Given the description of an element on the screen output the (x, y) to click on. 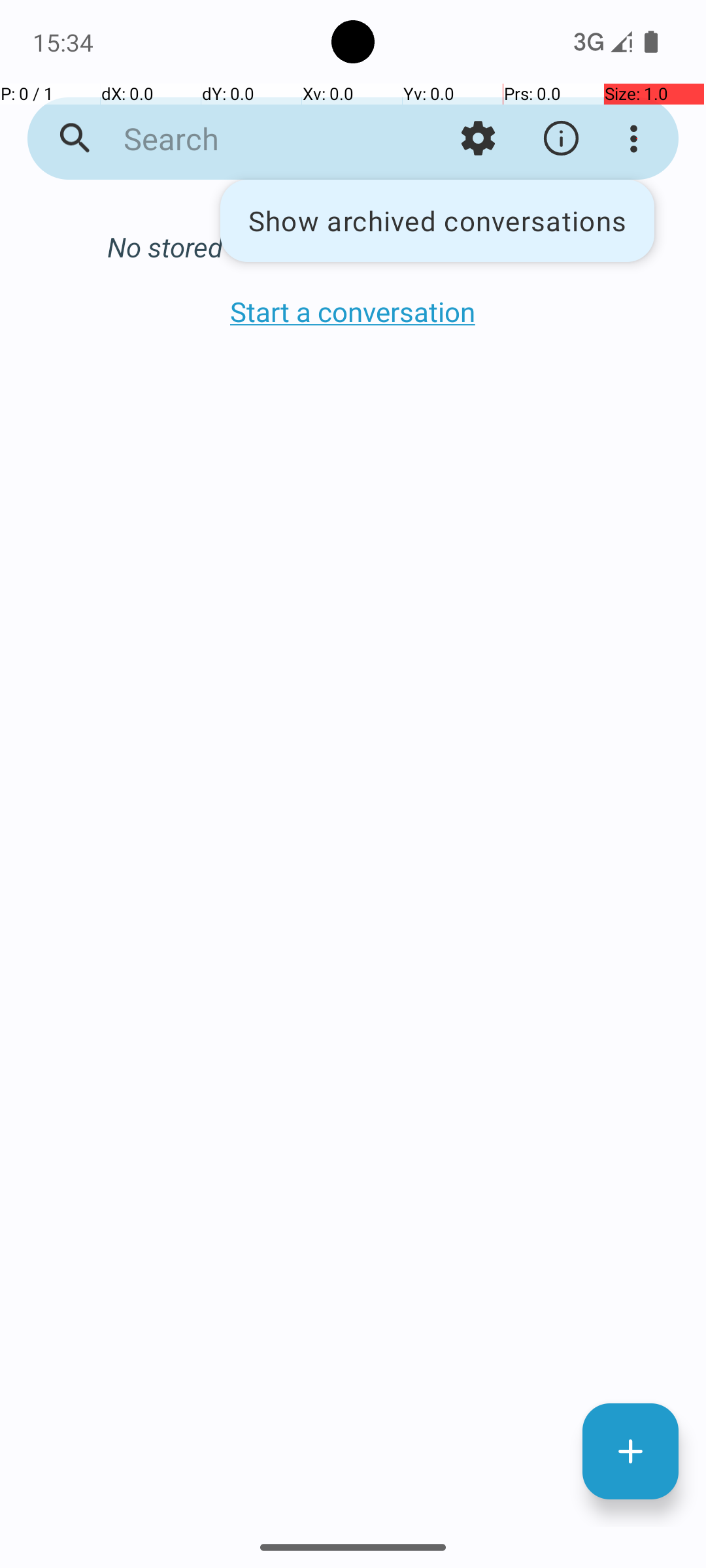
Show archived conversations Element type: android.widget.TextView (436, 220)
